Given the description of an element on the screen output the (x, y) to click on. 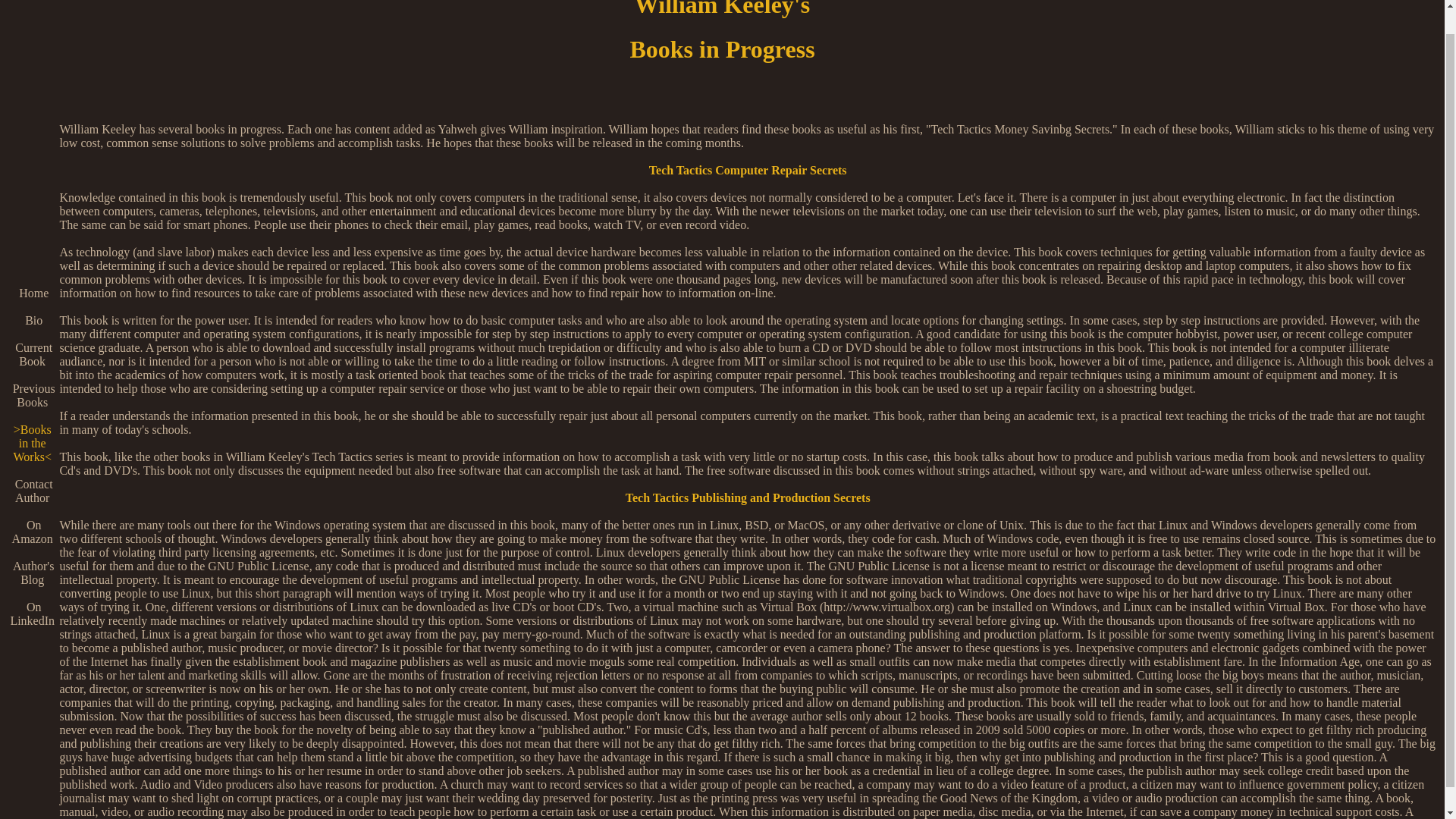
 Contact Author (31, 490)
 Bio (31, 319)
 Previous Books (32, 395)
 On Amazon (31, 531)
 Author's Blog (32, 572)
 On LinkedIn (32, 613)
 Current Book (31, 354)
 Home (32, 292)
